Given the description of an element on the screen output the (x, y) to click on. 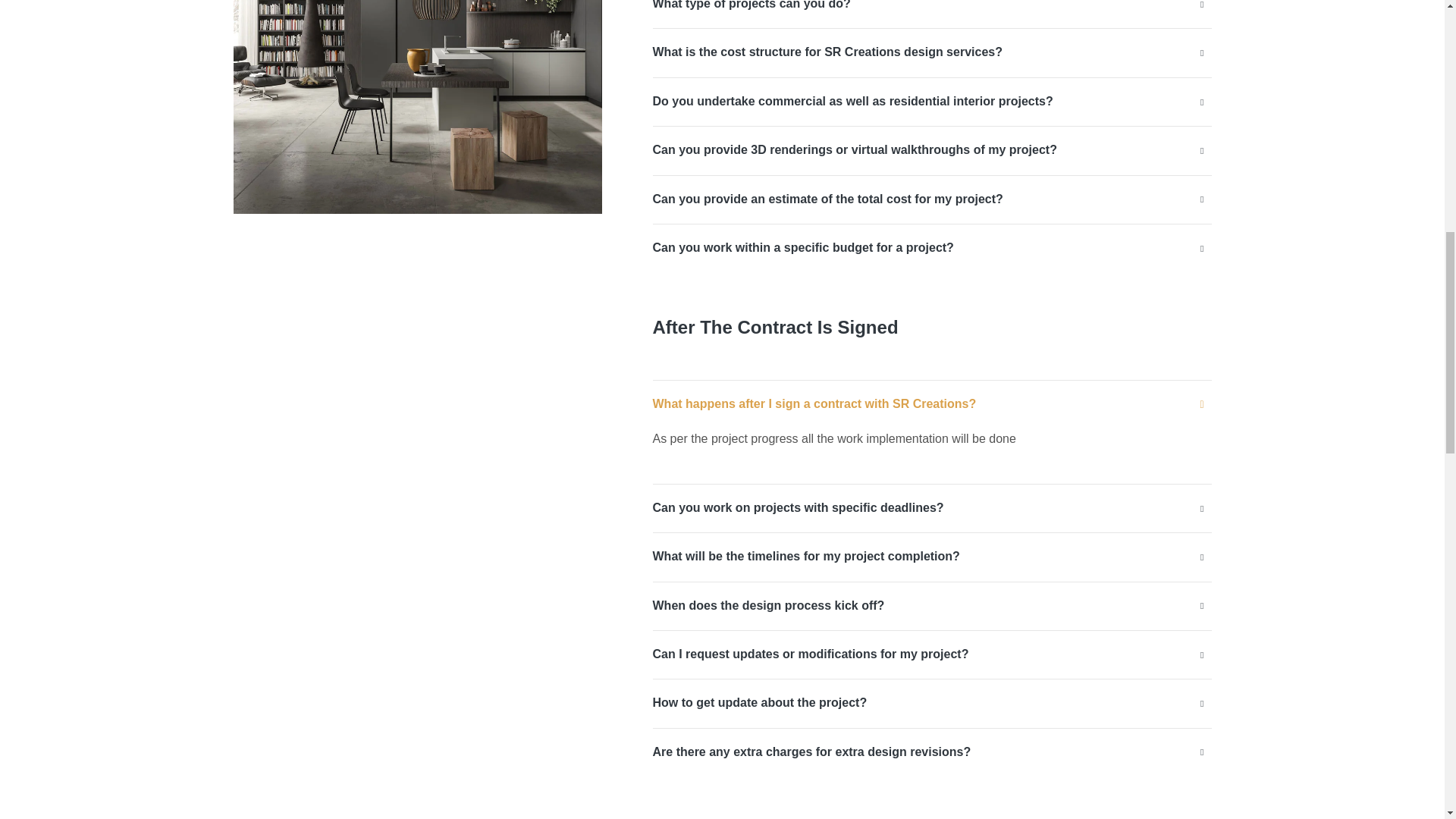
Can you work within a specific budget for a project? (802, 247)
What is the cost structure for SR Creations design services? (826, 52)
When does the design process kick off? (767, 605)
What happens after I sign a contract with SR Creations? (813, 403)
How to get update about the project? (759, 702)
h8-slider01 (417, 106)
What will be the timelines for my project completion? (805, 556)
Can you work on projects with specific deadlines? (797, 507)
What type of projects can you do? (751, 6)
Can I request updates or modifications for my project? (810, 654)
